Given the description of an element on the screen output the (x, y) to click on. 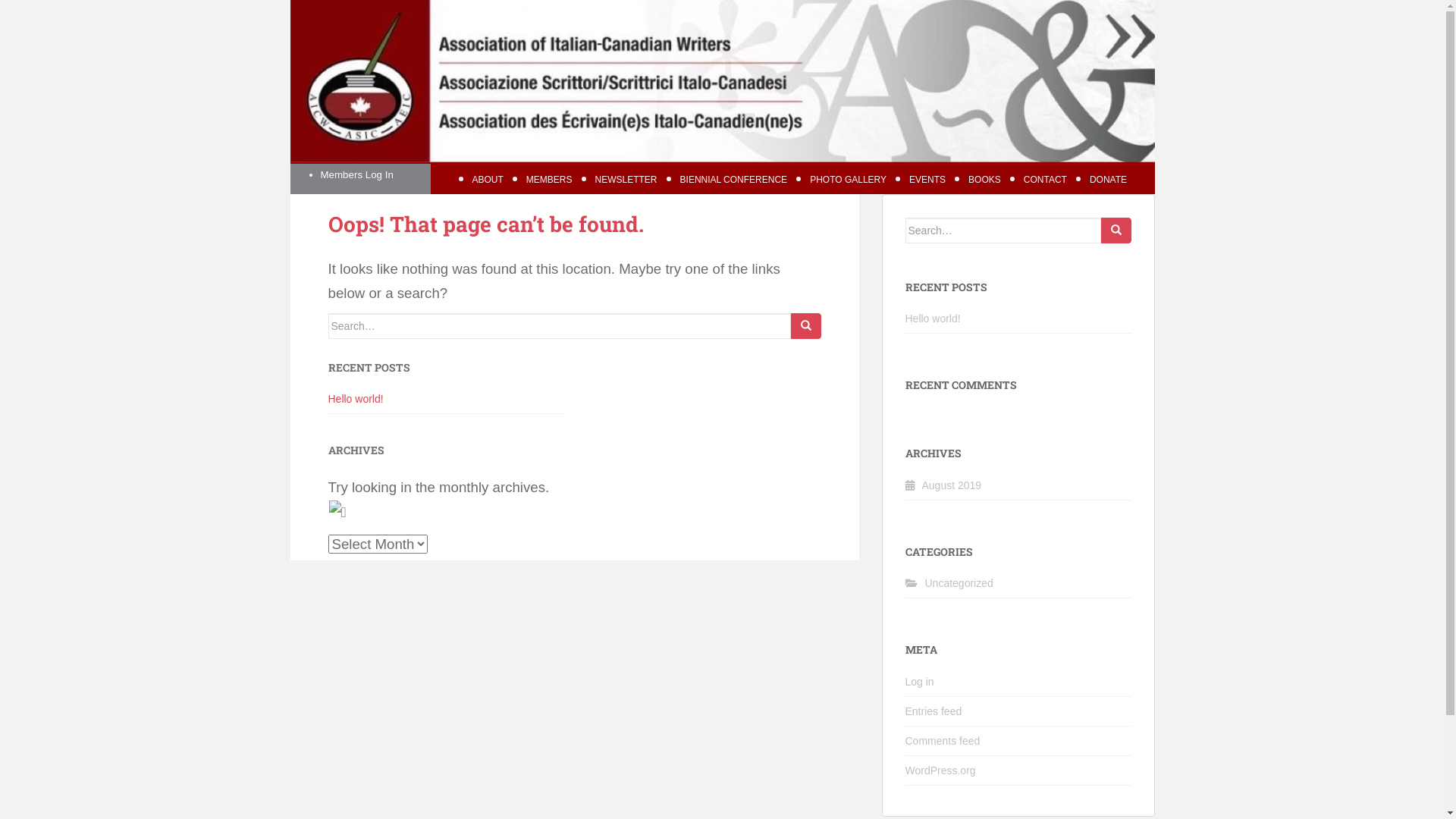
Entries feed Element type: text (933, 711)
Hello world! Element type: text (932, 318)
Search for: Element type: hover (1003, 230)
Members Log In Element type: text (356, 174)
Comments feed Element type: text (942, 740)
August 2019 Element type: text (952, 485)
Uncategorized Element type: text (959, 583)
WordPress.org Element type: text (940, 770)
Log in Element type: text (919, 681)
Hello world! Element type: text (354, 398)
Search Element type: text (1116, 230)
Search for: Element type: hover (558, 325)
Search Element type: text (805, 325)
